Given the description of an element on the screen output the (x, y) to click on. 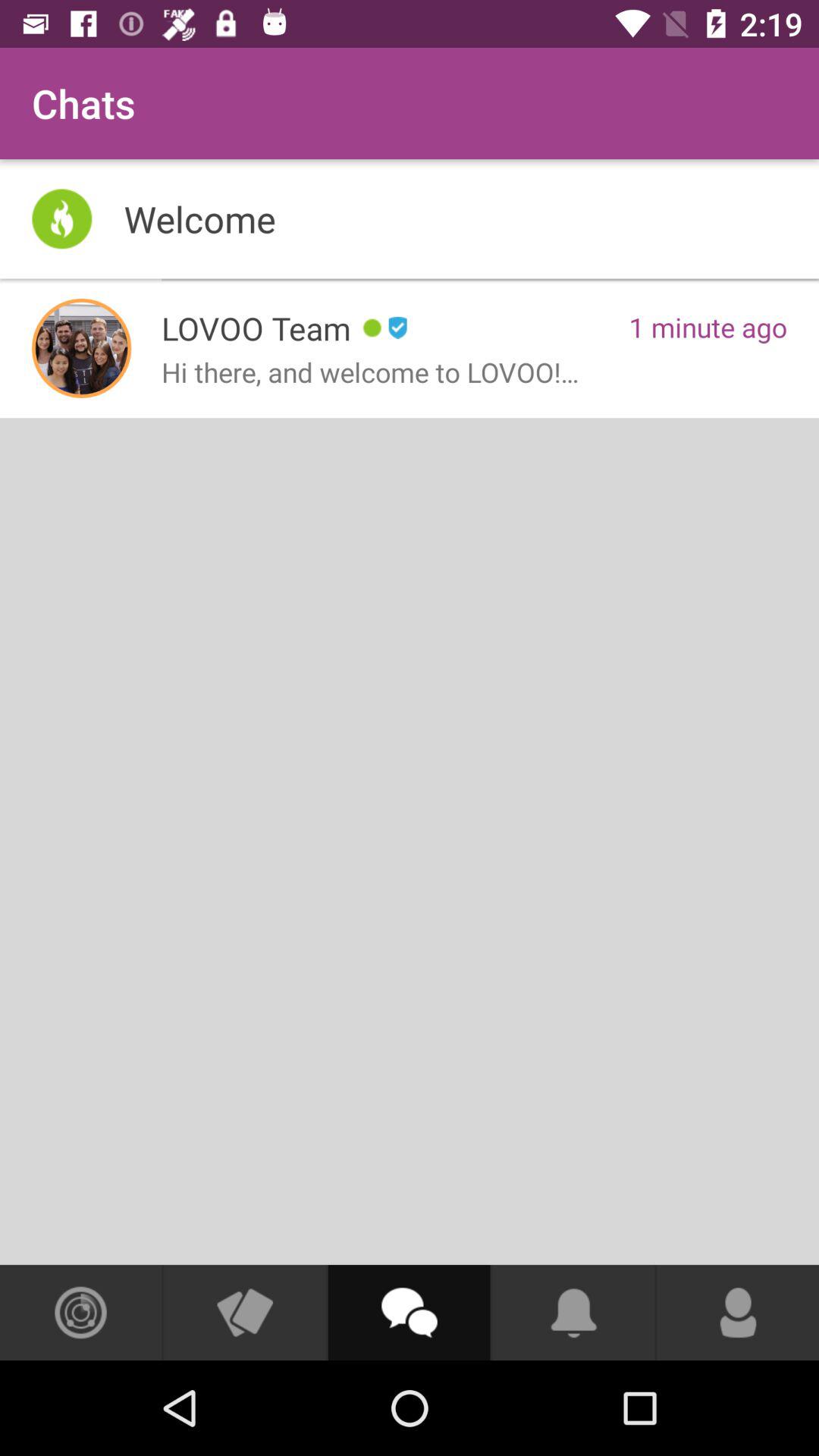
turn on notifications (573, 1312)
